Given the description of an element on the screen output the (x, y) to click on. 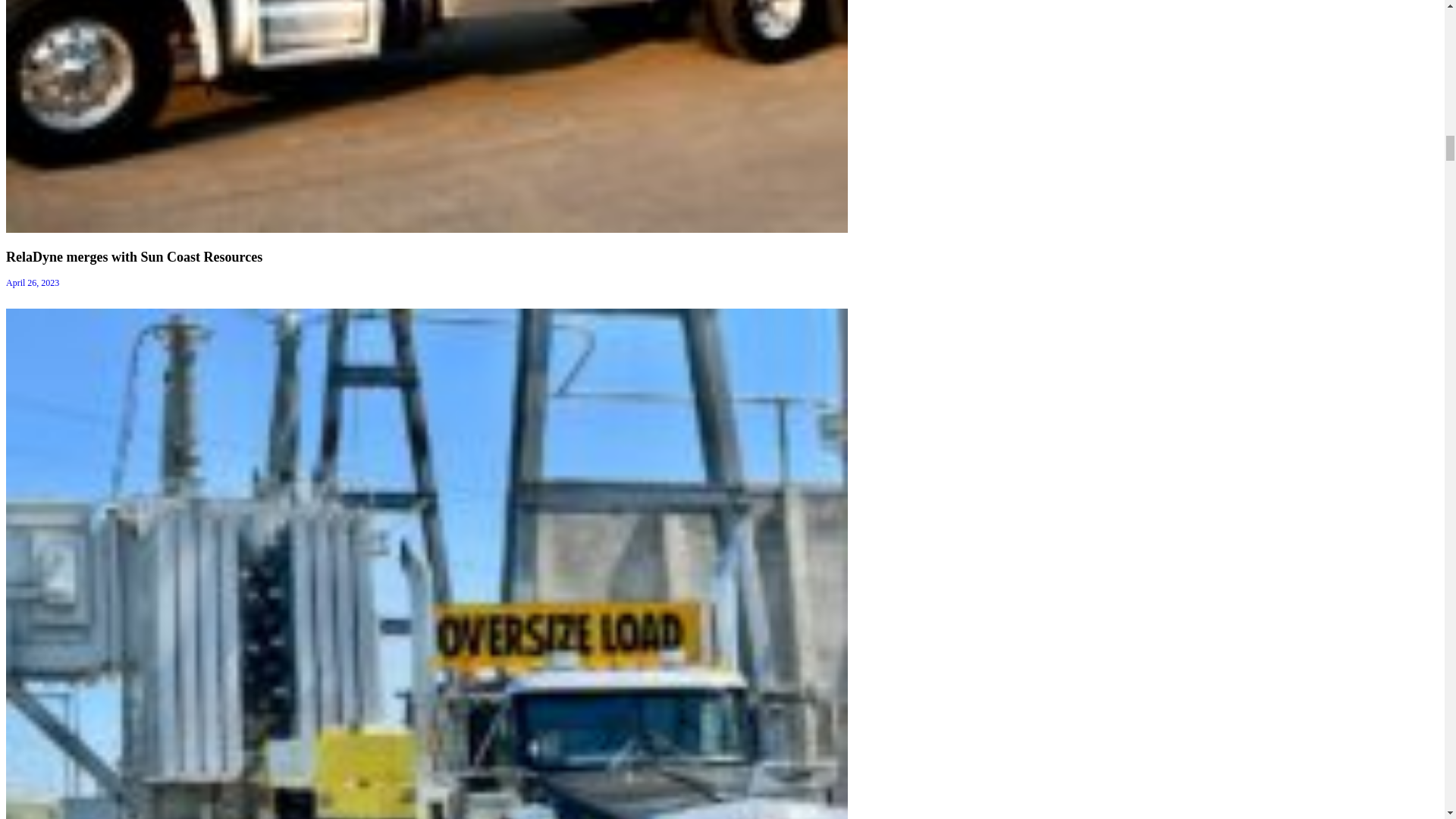
RelaDyne merges with Sun Coast Resources (133, 256)
April 26, 2023 (32, 282)
